Given the description of an element on the screen output the (x, y) to click on. 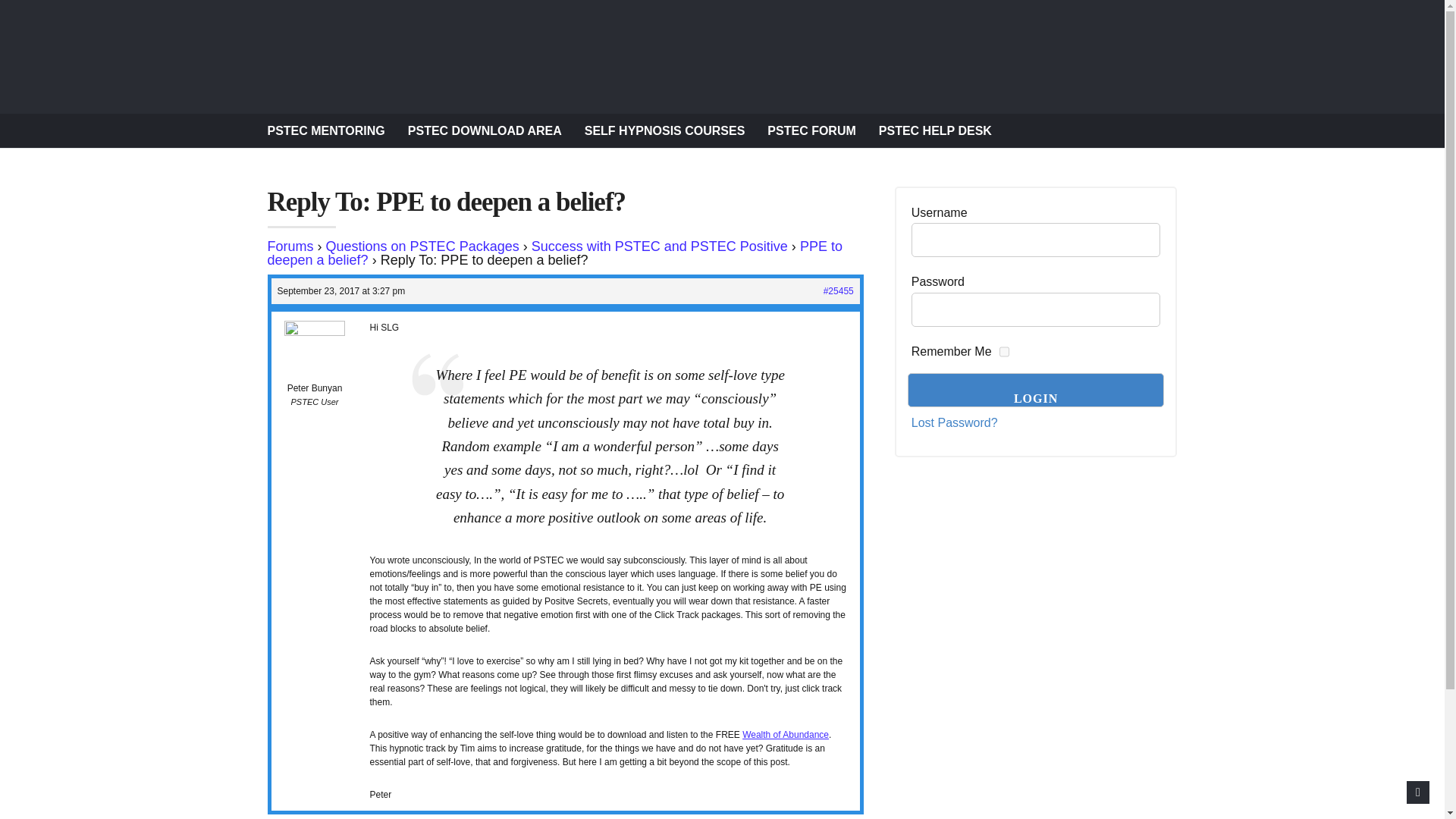
Login (1035, 390)
Forums (289, 246)
PSTEC HELP DESK (935, 130)
Login (1035, 390)
Wealth of Abundance (785, 734)
Questions on PSTEC Packages (422, 246)
SELF HYPNOSIS COURSES (665, 130)
Lost Password? (954, 423)
PSTEC FORUM (811, 130)
PPE to deepen a belief? (553, 253)
